Given the description of an element on the screen output the (x, y) to click on. 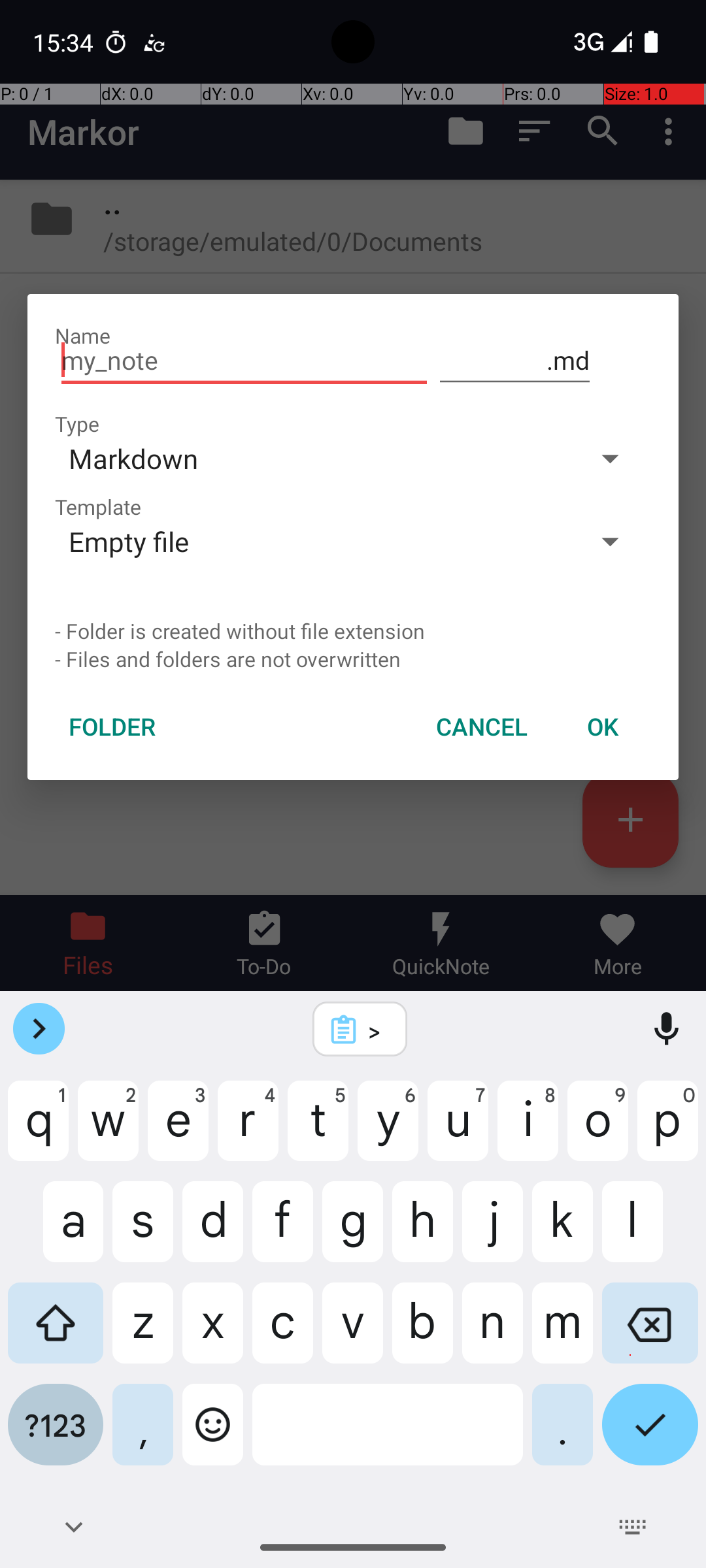
>  Element type: android.widget.TextView (377, 1029)
